Given the description of an element on the screen output the (x, y) to click on. 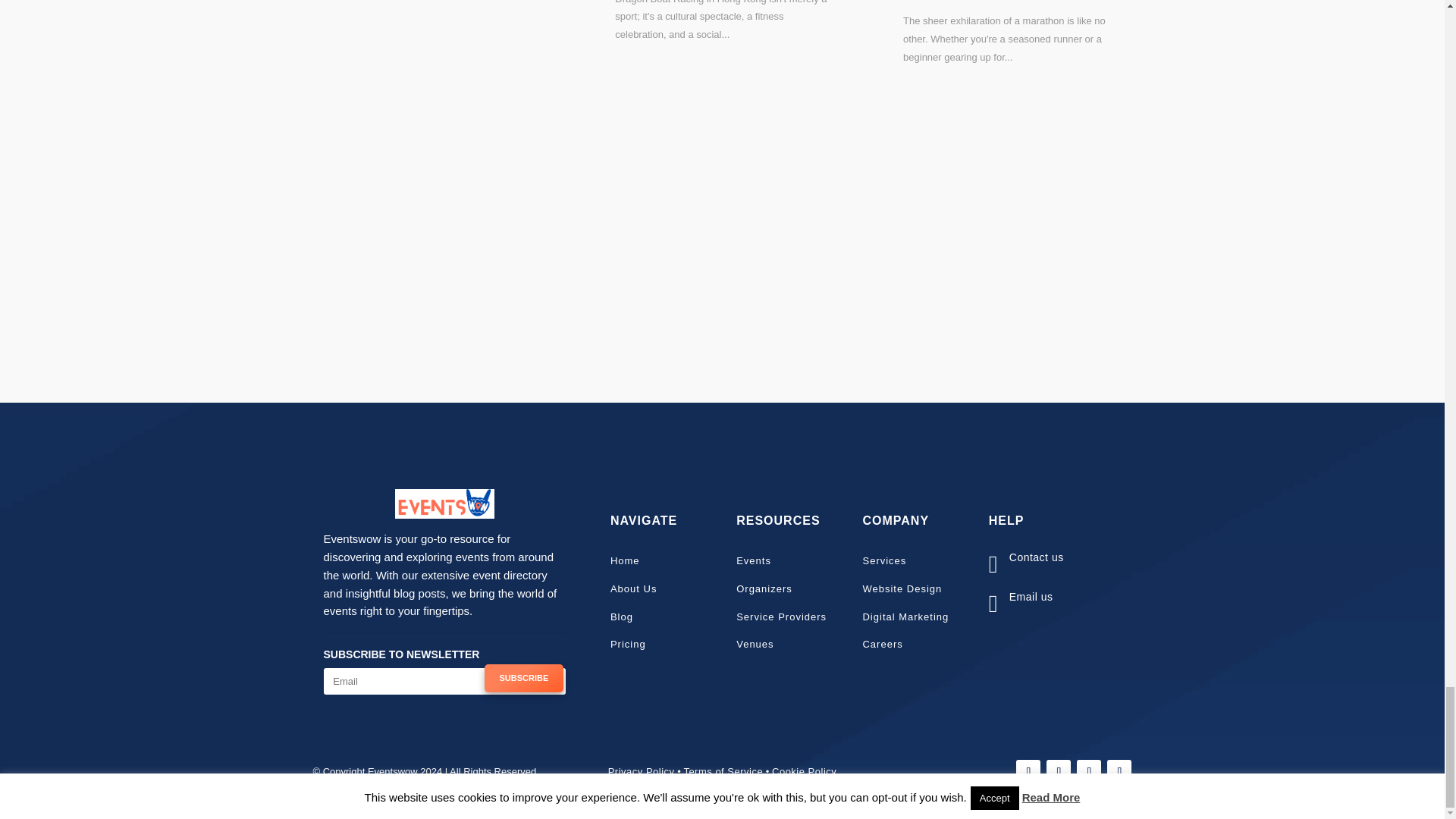
Follow on LinkedIn (1088, 771)
Events wow logo 2023 (444, 503)
Follow on X (1058, 771)
Follow on Facebook (1028, 771)
